Given the description of an element on the screen output the (x, y) to click on. 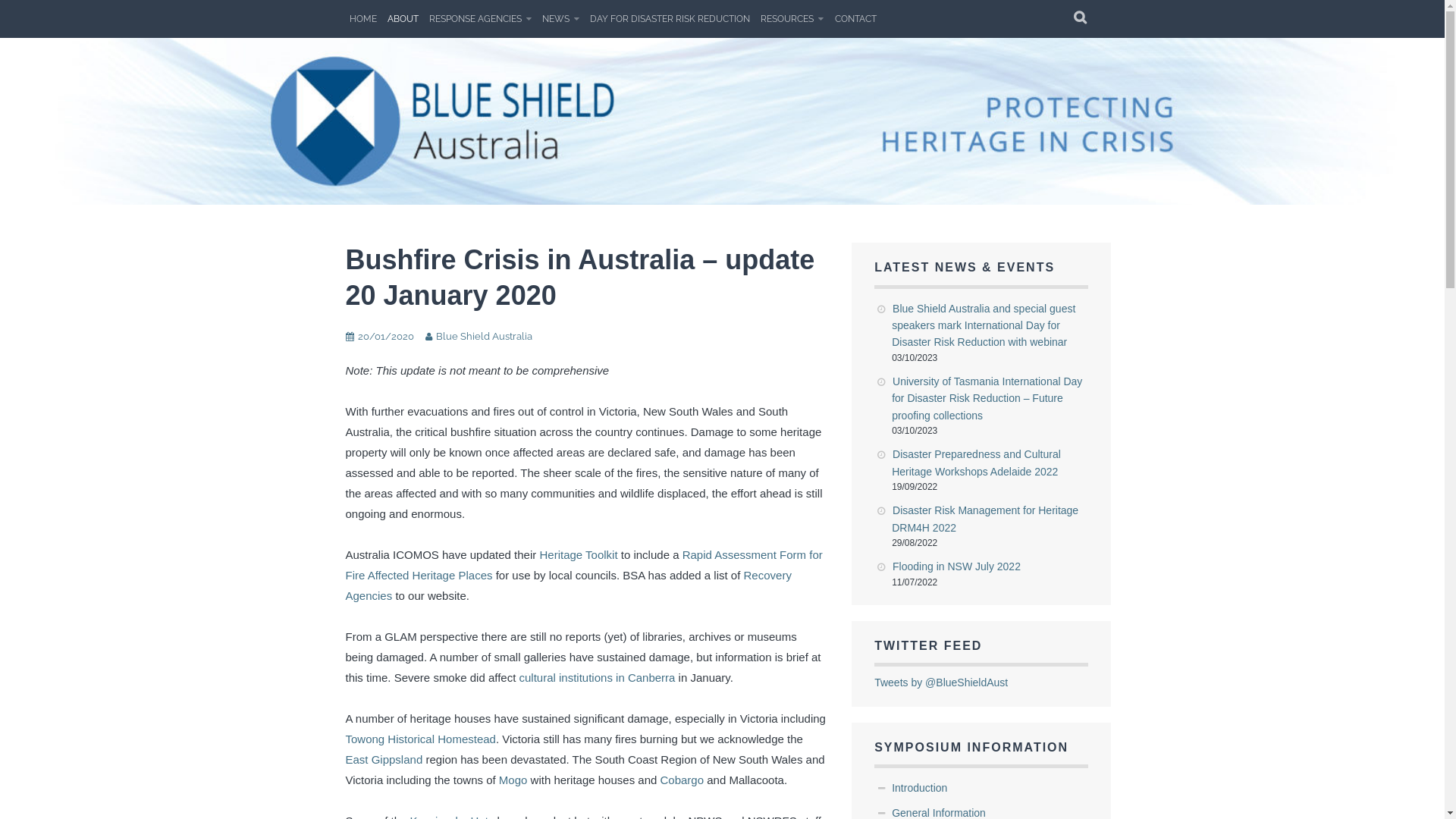
Flooding in NSW July 2022 Element type: text (956, 566)
NEWS Element type: text (560, 18)
Disaster Risk Management for Heritage DRM4H 2022 Element type: text (984, 518)
East Gippsland Element type: text (384, 759)
Tweets by @BlueShieldAust Element type: text (940, 682)
Rapid Assessment Form for Fire Affected Heritage Places Element type: text (583, 564)
Heritage Toolkit Element type: text (578, 554)
Towong Historical Homestead Element type: text (420, 738)
Blue Shield Australia Element type: text (483, 336)
BLUE SHIELD AUSTRALIA Element type: text (685, 101)
Recovery Agencies Element type: text (568, 585)
RESPONSE AGENCIES Element type: text (480, 18)
20/01/2020 Element type: text (385, 336)
CONTACT Element type: text (855, 18)
ABOUT Element type: text (402, 18)
Mogo Element type: text (512, 779)
Introduction Element type: text (919, 787)
HOME Element type: text (362, 18)
SEARCH Element type: text (1079, 18)
RESOURCES Element type: text (791, 18)
Cobargo Element type: text (681, 779)
cultural institutions in Canberra Element type: text (596, 677)
DAY FOR DISASTER RISK REDUCTION Element type: text (669, 18)
